Given the description of an element on the screen output the (x, y) to click on. 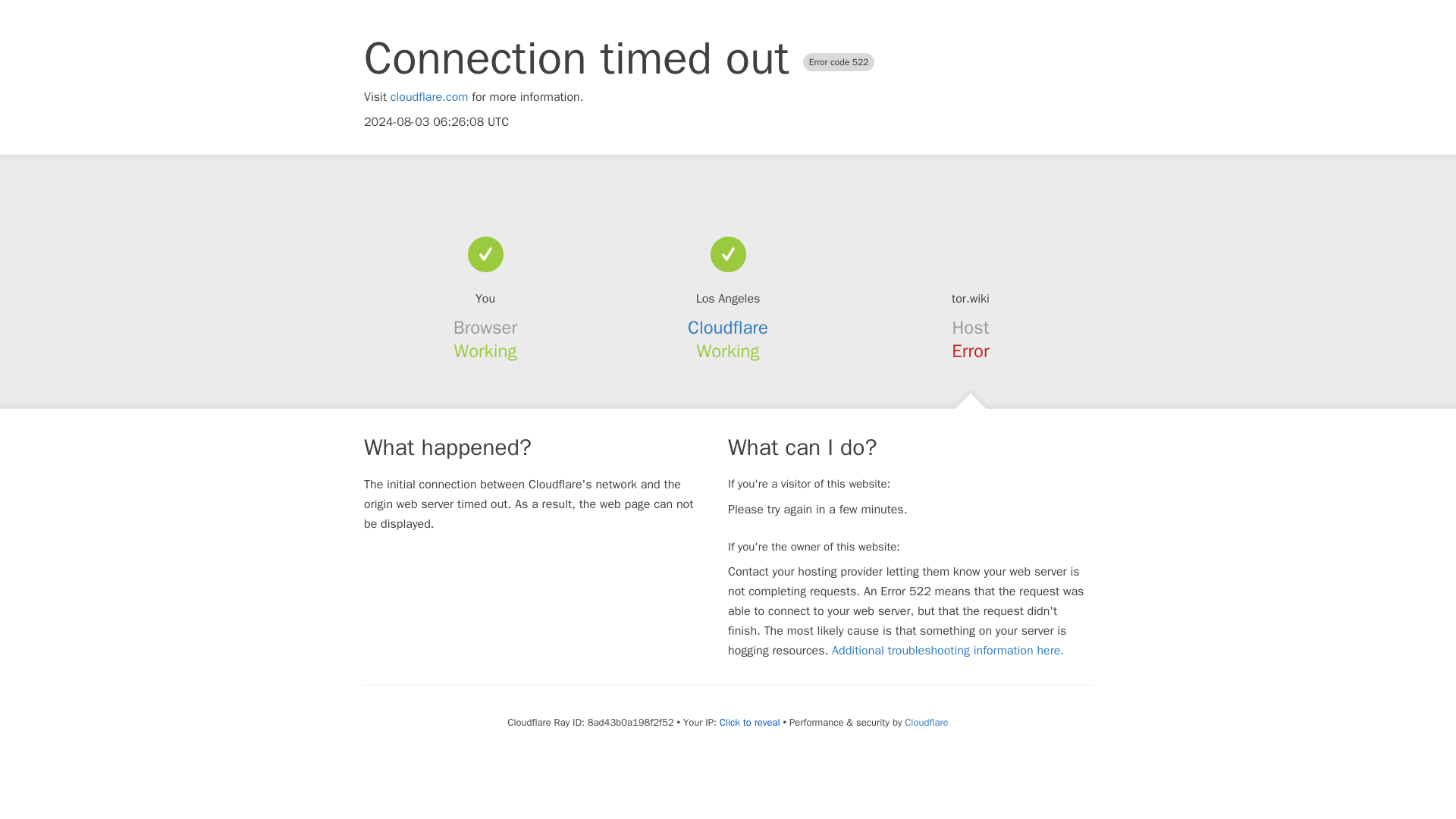
Additional troubleshooting information here. (947, 650)
Cloudflare (727, 327)
cloudflare.com (429, 96)
Cloudflare (925, 721)
Click to reveal (749, 722)
